Given the description of an element on the screen output the (x, y) to click on. 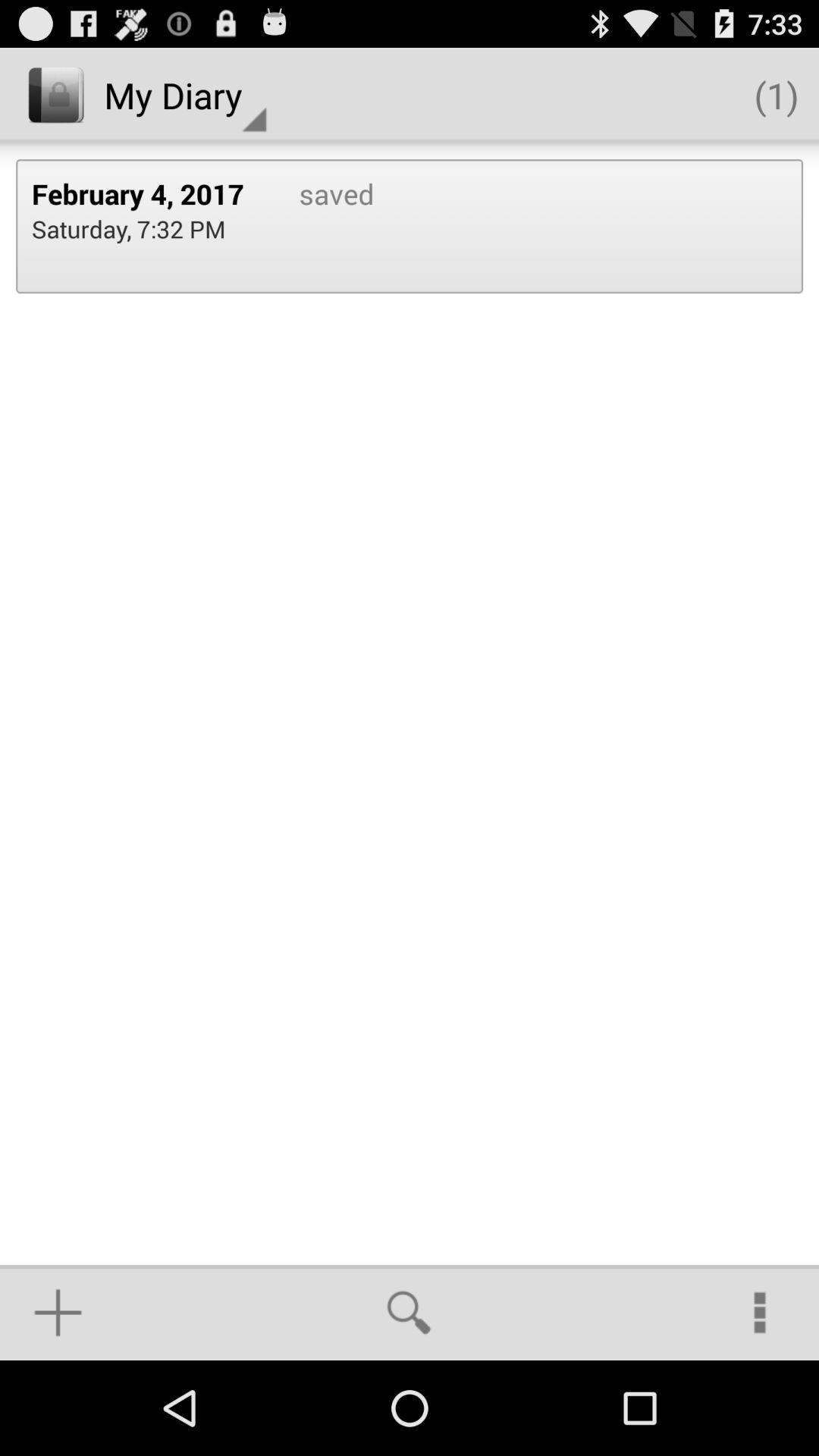
press item at the bottom left corner (58, 1312)
